Given the description of an element on the screen output the (x, y) to click on. 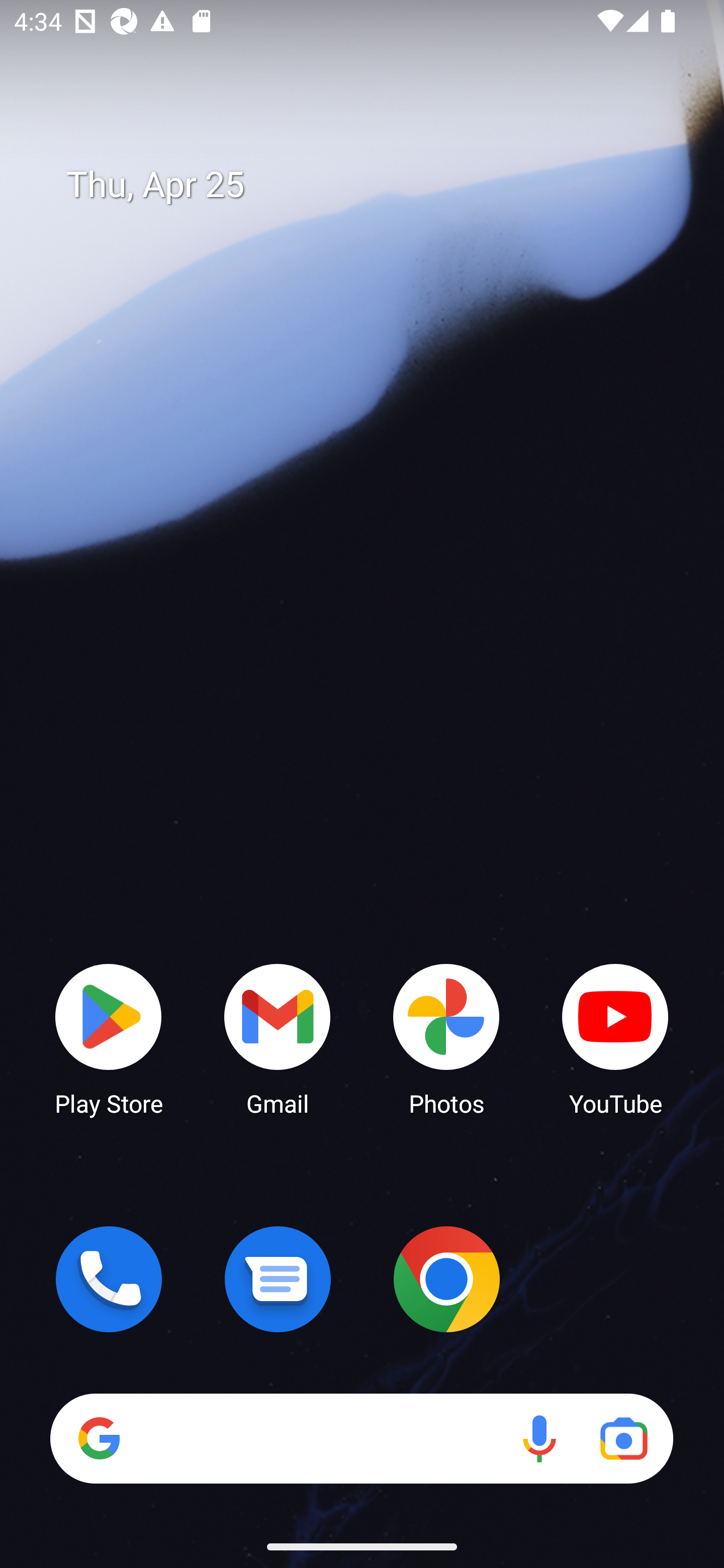
Thu, Apr 25 (375, 184)
Play Store (108, 1038)
Gmail (277, 1038)
Photos (445, 1038)
YouTube (615, 1038)
Phone (108, 1279)
Messages (277, 1279)
Chrome (446, 1279)
Search Voice search Google Lens (361, 1438)
Voice search (539, 1438)
Google Lens (623, 1438)
